Given the description of an element on the screen output the (x, y) to click on. 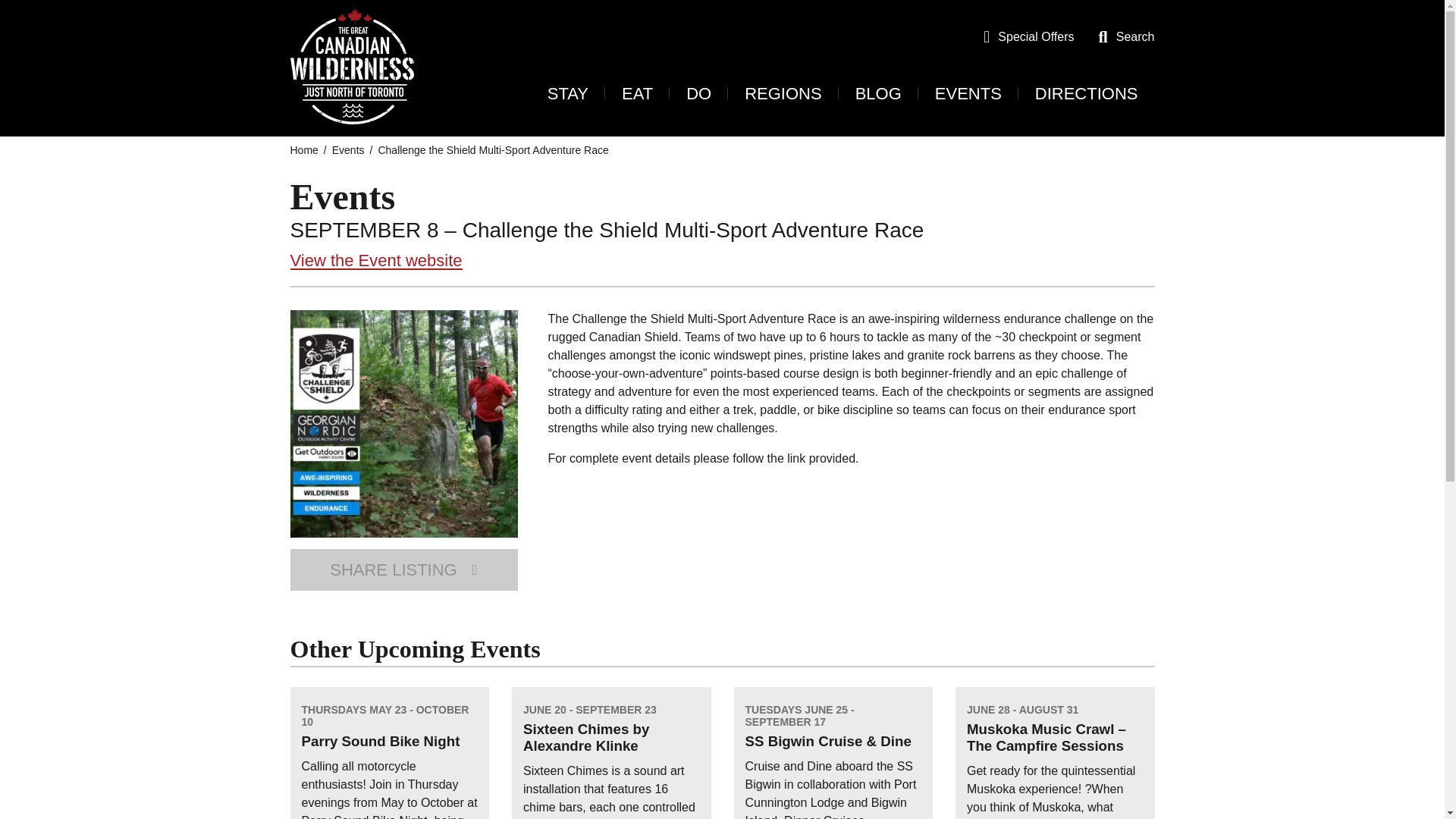
REGIONS (782, 93)
BLOG (878, 93)
Special Offers (1035, 36)
Search (1135, 36)
STAY (567, 93)
EAT (636, 93)
